Given the description of an element on the screen output the (x, y) to click on. 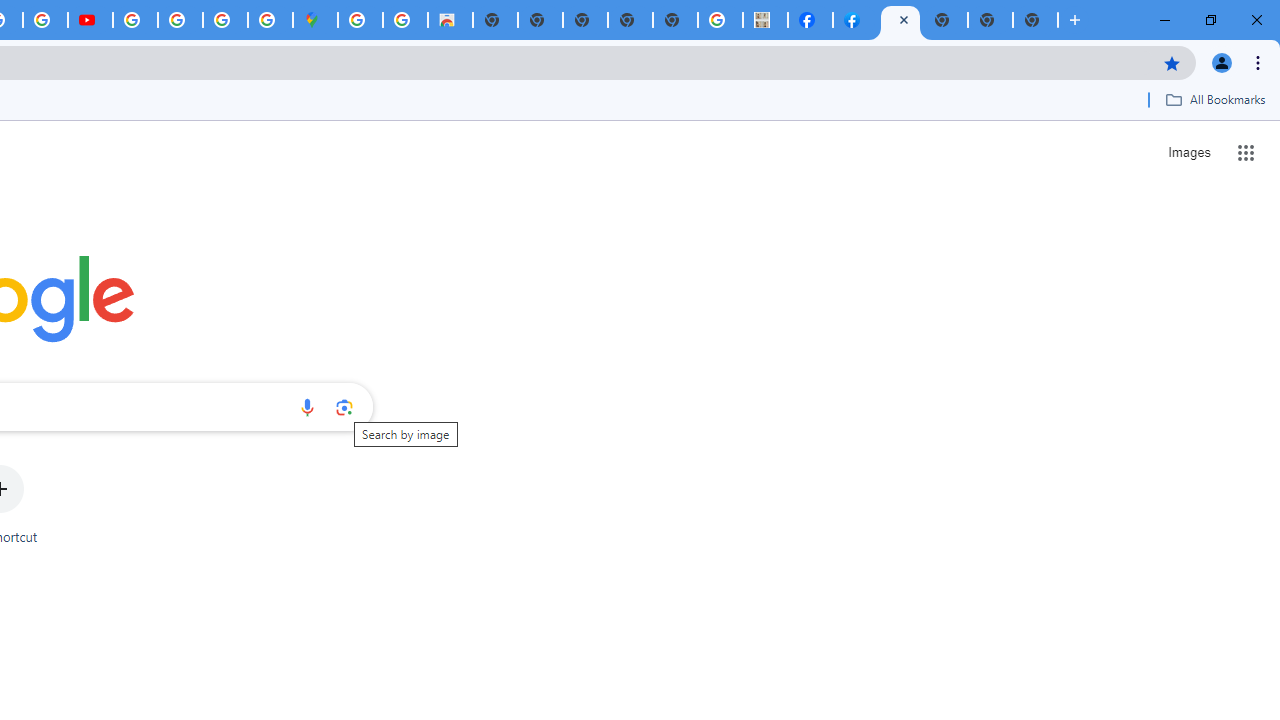
Subscriptions - YouTube (89, 20)
Miley Cyrus | Facebook (810, 20)
Chrome Web Store - Shopping (450, 20)
